Given the description of an element on the screen output the (x, y) to click on. 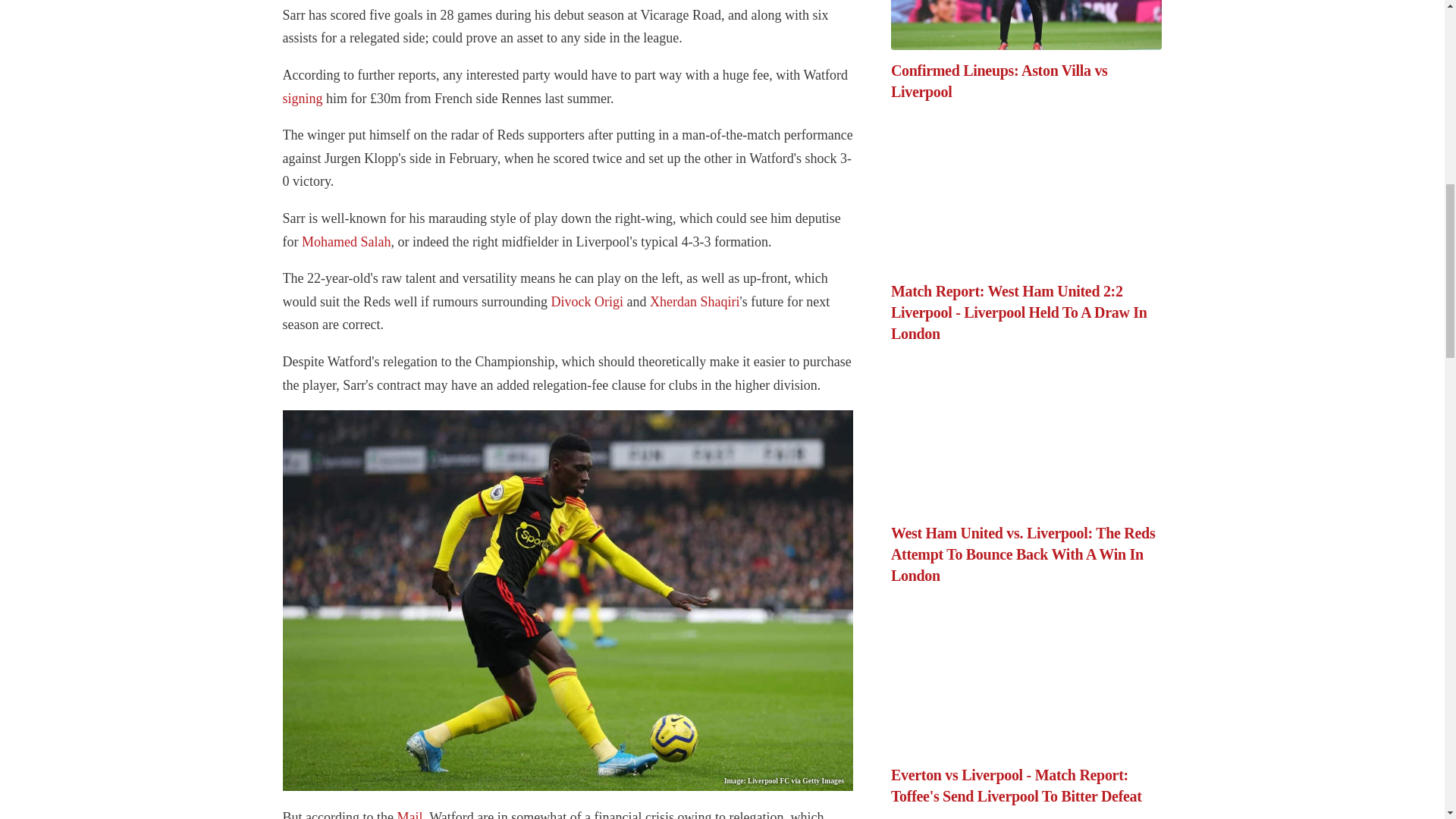
Related Liverpool FC news and insights (586, 301)
Related Liverpool FC news and insights (301, 98)
Related Liverpool FC news and insights (694, 301)
Related Liverpool FC news and insights (345, 241)
